Given the description of an element on the screen output the (x, y) to click on. 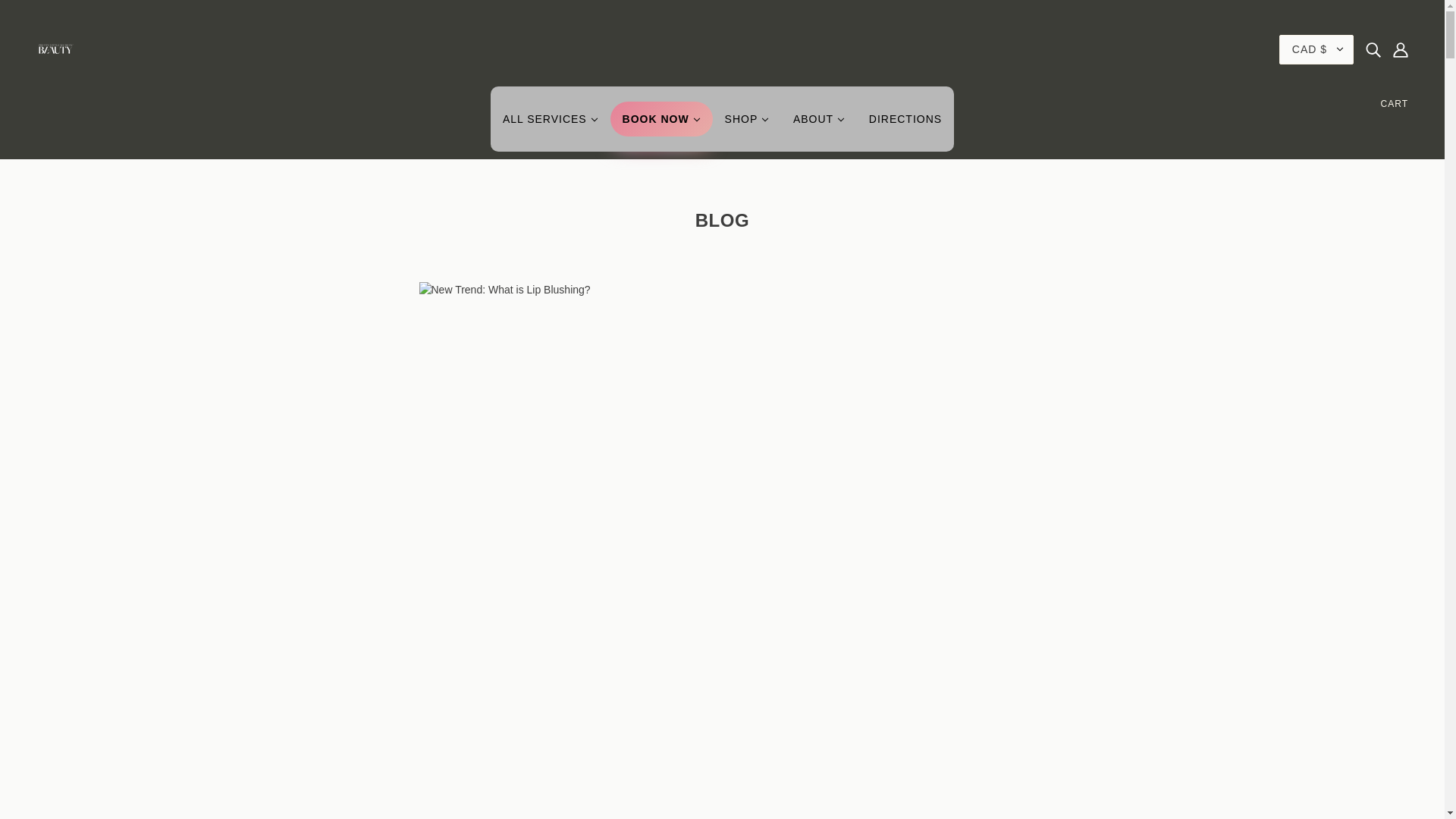
ABOUT (818, 124)
SHOP (746, 124)
BOOK NOW (661, 118)
ALL SERVICES (550, 124)
DIRECTIONS (905, 124)
BLOG (722, 219)
CART (1394, 103)
